Given the description of an element on the screen output the (x, y) to click on. 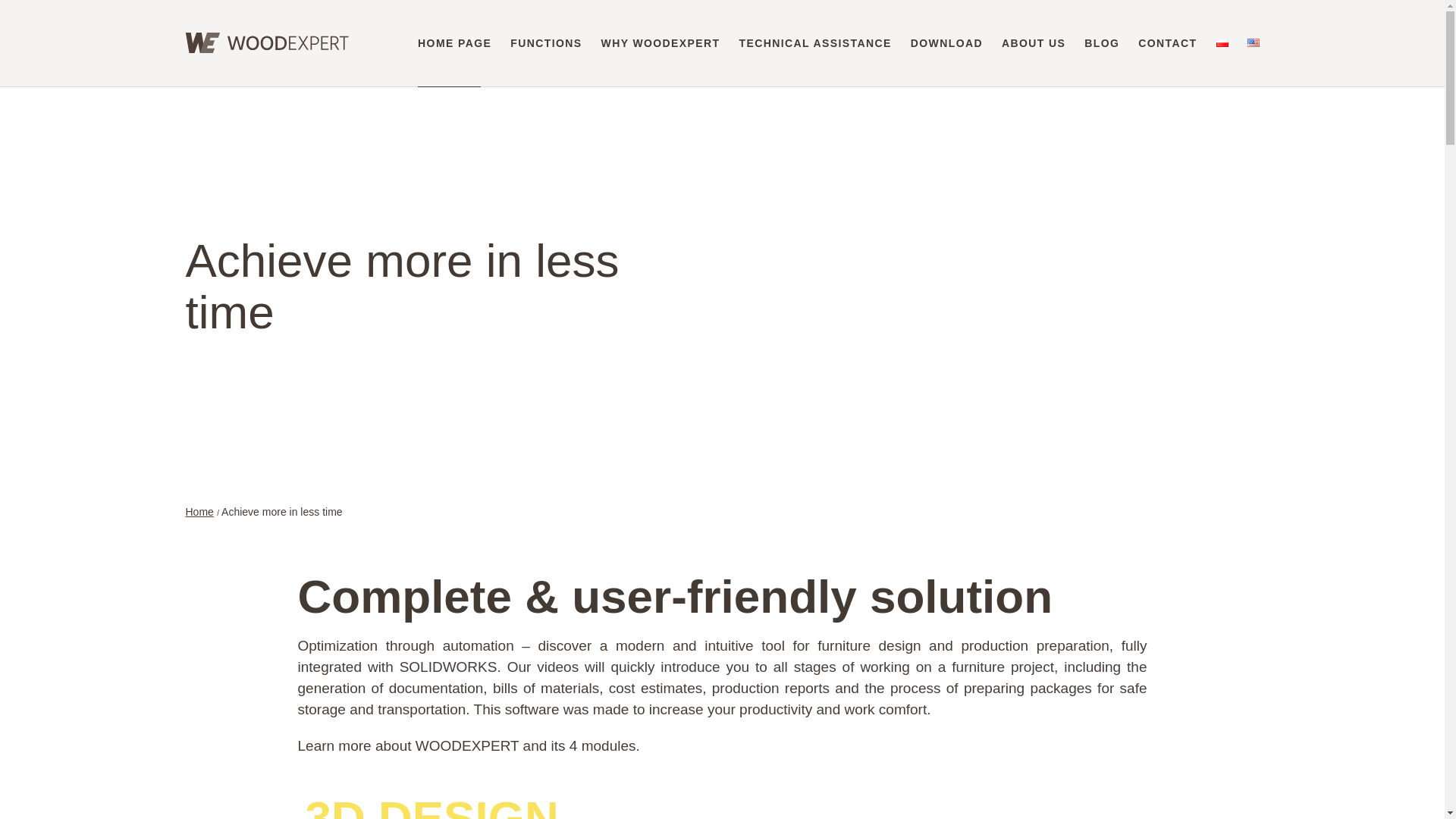
Privacy (621, 749)
Home (198, 511)
DOWNLOAD (946, 42)
WHY WOODEXPERT (660, 42)
BLOG (1101, 42)
ABOUT US (1033, 42)
HOME PAGE (454, 42)
TECHNICAL ASSISTANCE (815, 42)
FUNCTIONS (545, 42)
CONTACT (1167, 42)
